Given the description of an element on the screen output the (x, y) to click on. 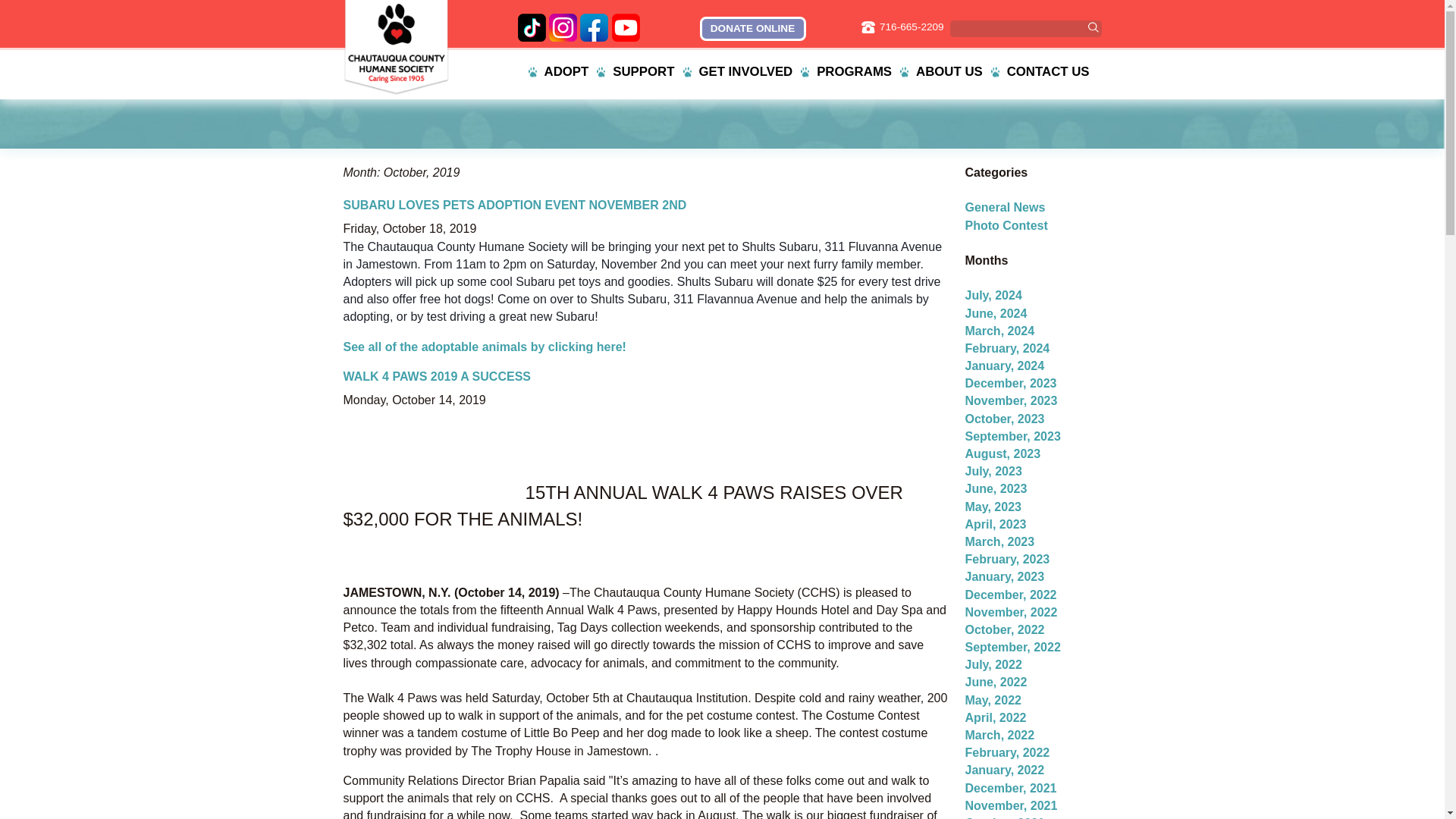
Opens in new window (751, 28)
Opens in new window (530, 26)
Search (1092, 27)
Opens in new window (562, 26)
Opens in new window (625, 26)
Opens in new window (593, 26)
